Given the description of an element on the screen output the (x, y) to click on. 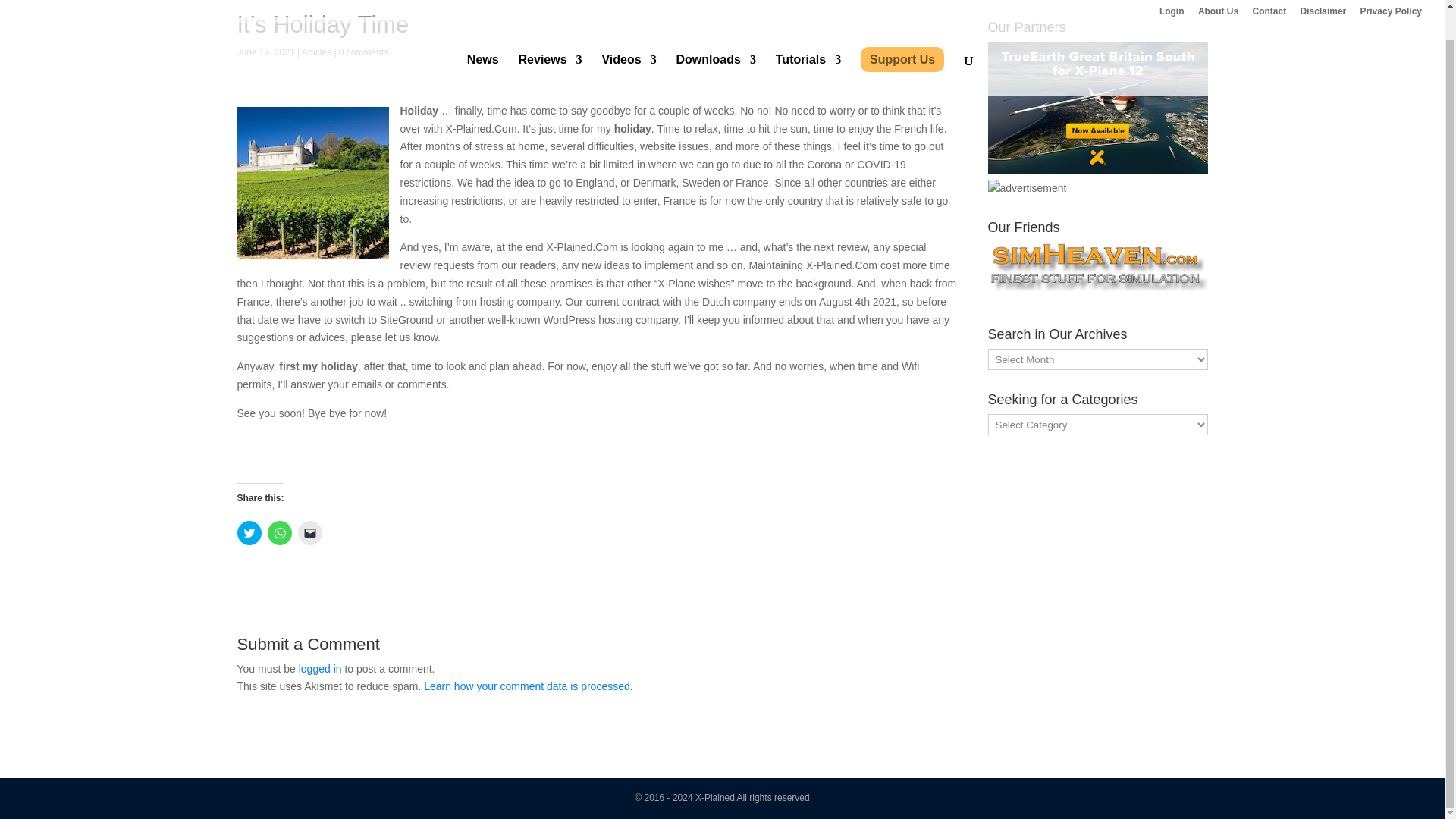
PC Simulation, Simulators, Hardware and Games (1026, 188)
Click to email a link to a friend (309, 532)
advertisement (1097, 107)
Reviews (550, 43)
Click to share on WhatsApp (278, 532)
Simheaven ... Finest Stuff for Your Simulation (1097, 270)
Downloads (716, 43)
Videos (628, 43)
Click to share on Twitter (247, 532)
